Given the description of an element on the screen output the (x, y) to click on. 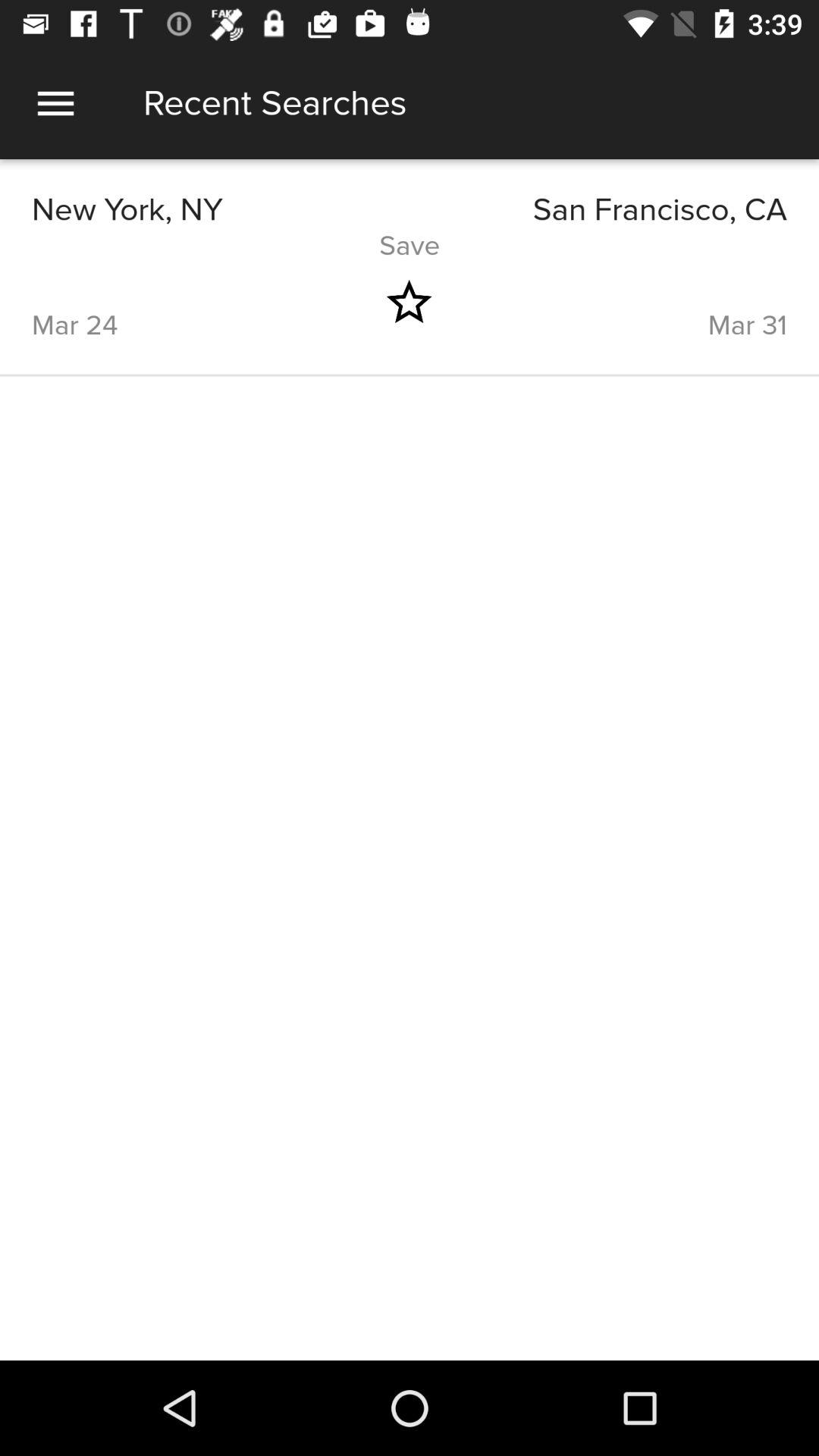
open icon to the right of new york, ny icon (598, 210)
